Given the description of an element on the screen output the (x, y) to click on. 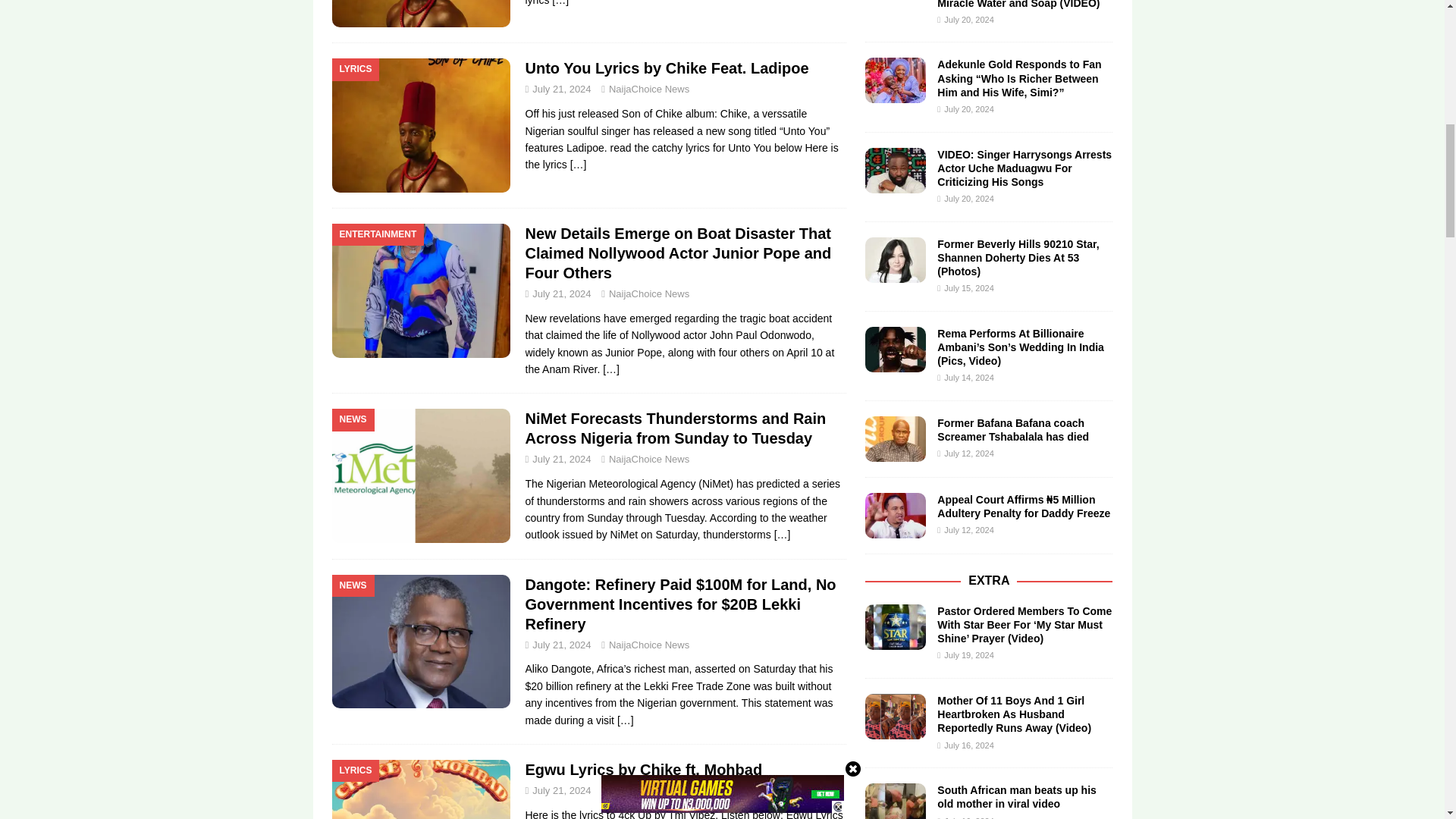
Unto You Lyrics by Chike Feat. Ladipoe (666, 67)
Lifetime Love Lyrics by Chike 2 (421, 13)
Lifetime Love Lyrics by Chike (560, 2)
Unto You Lyrics by Chike Feat. Ladipoe (666, 67)
July 21, 2024 (561, 89)
Unto You Lyrics by Chike Feat. Ladipoe 3 (421, 125)
Unto You Lyrics by Chike Feat. Ladipoe (578, 164)
